Given the description of an element on the screen output the (x, y) to click on. 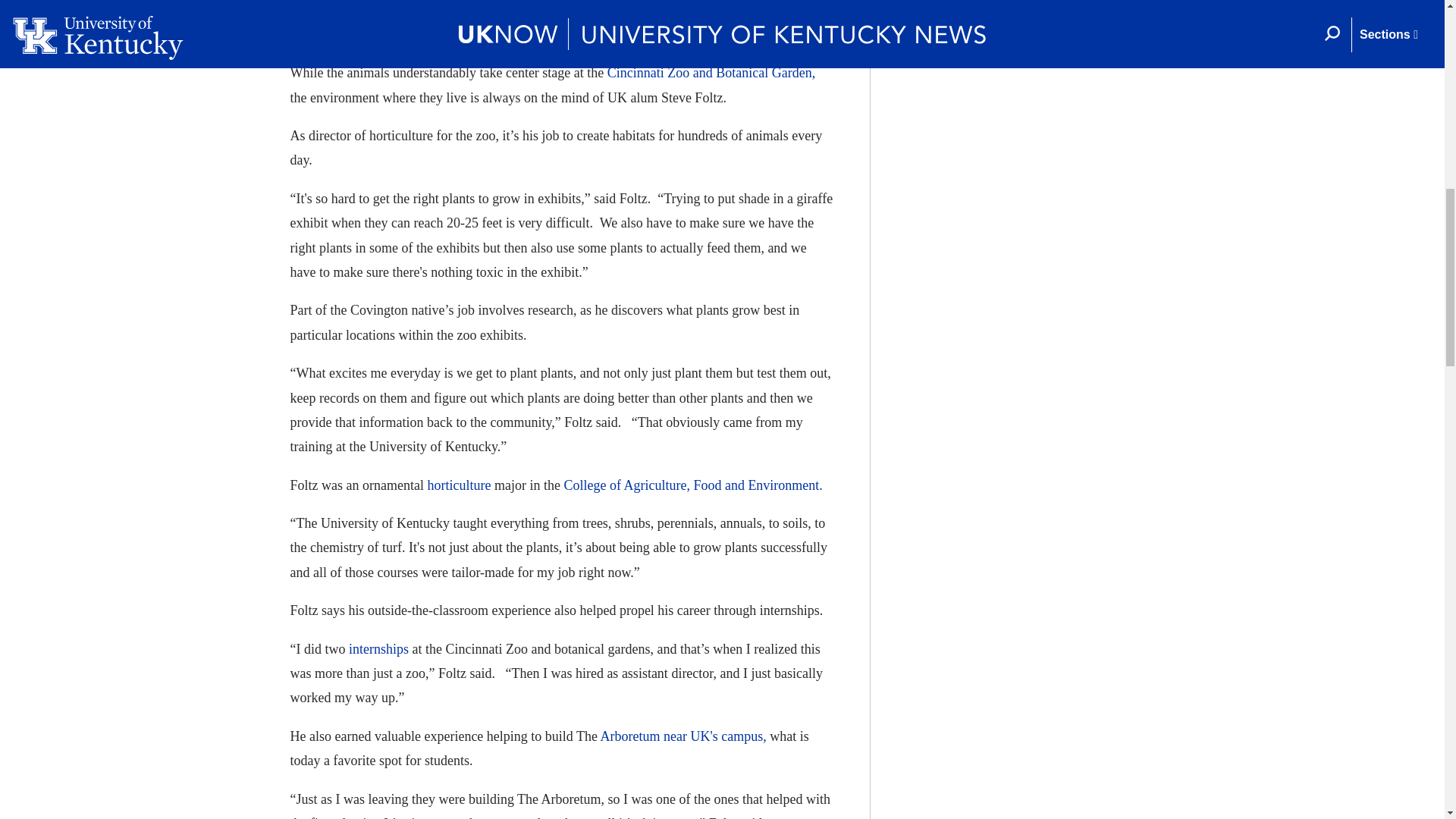
internships (379, 648)
Arboretum near UK's campus, (683, 735)
College of Agriculture, Food and Environment. (692, 485)
Cincinnati Zoo and Botanical Garden, (711, 72)
horticulture (458, 485)
